Given the description of an element on the screen output the (x, y) to click on. 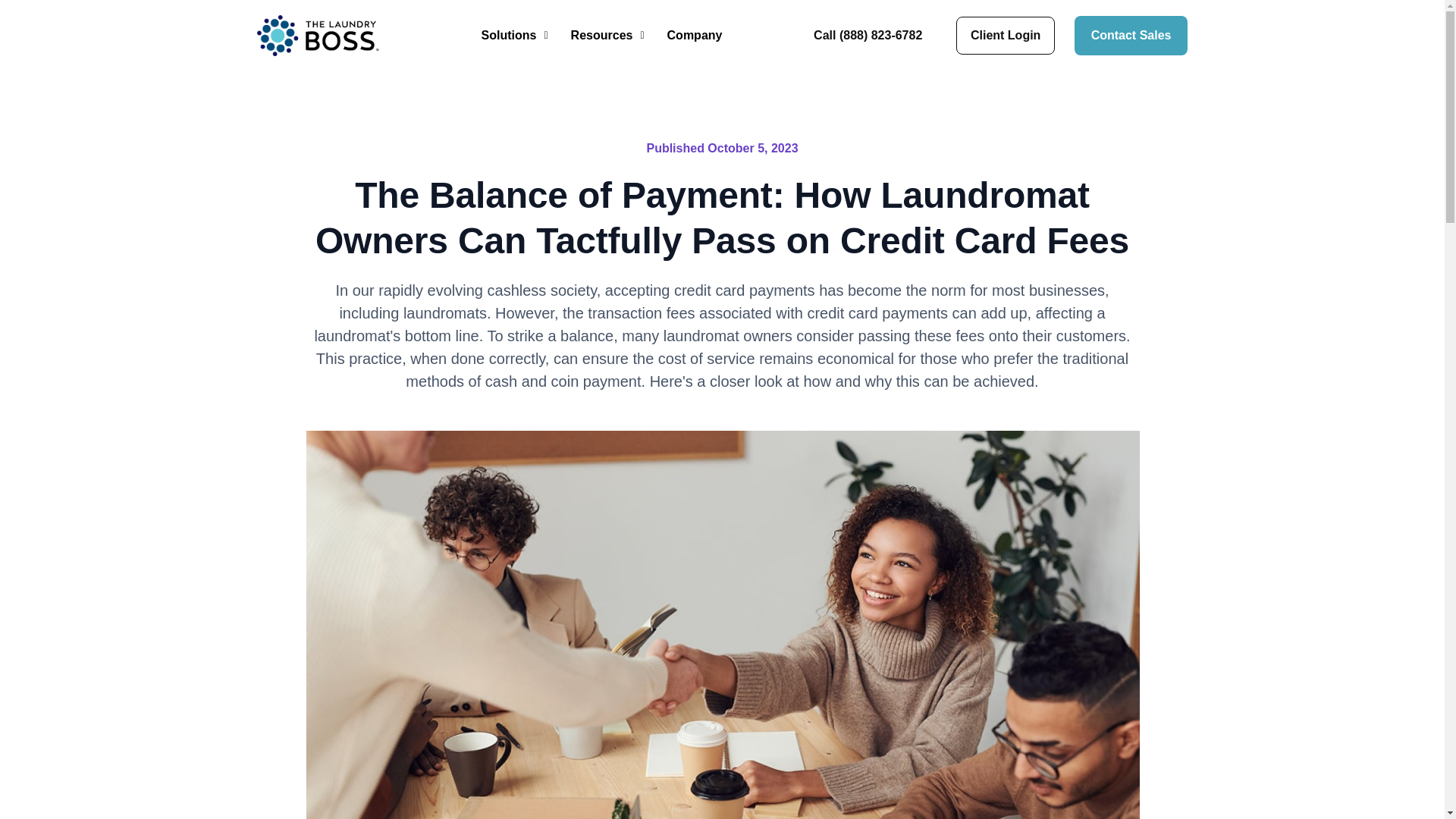
Solutions (514, 35)
Resources (607, 35)
